Given the description of an element on the screen output the (x, y) to click on. 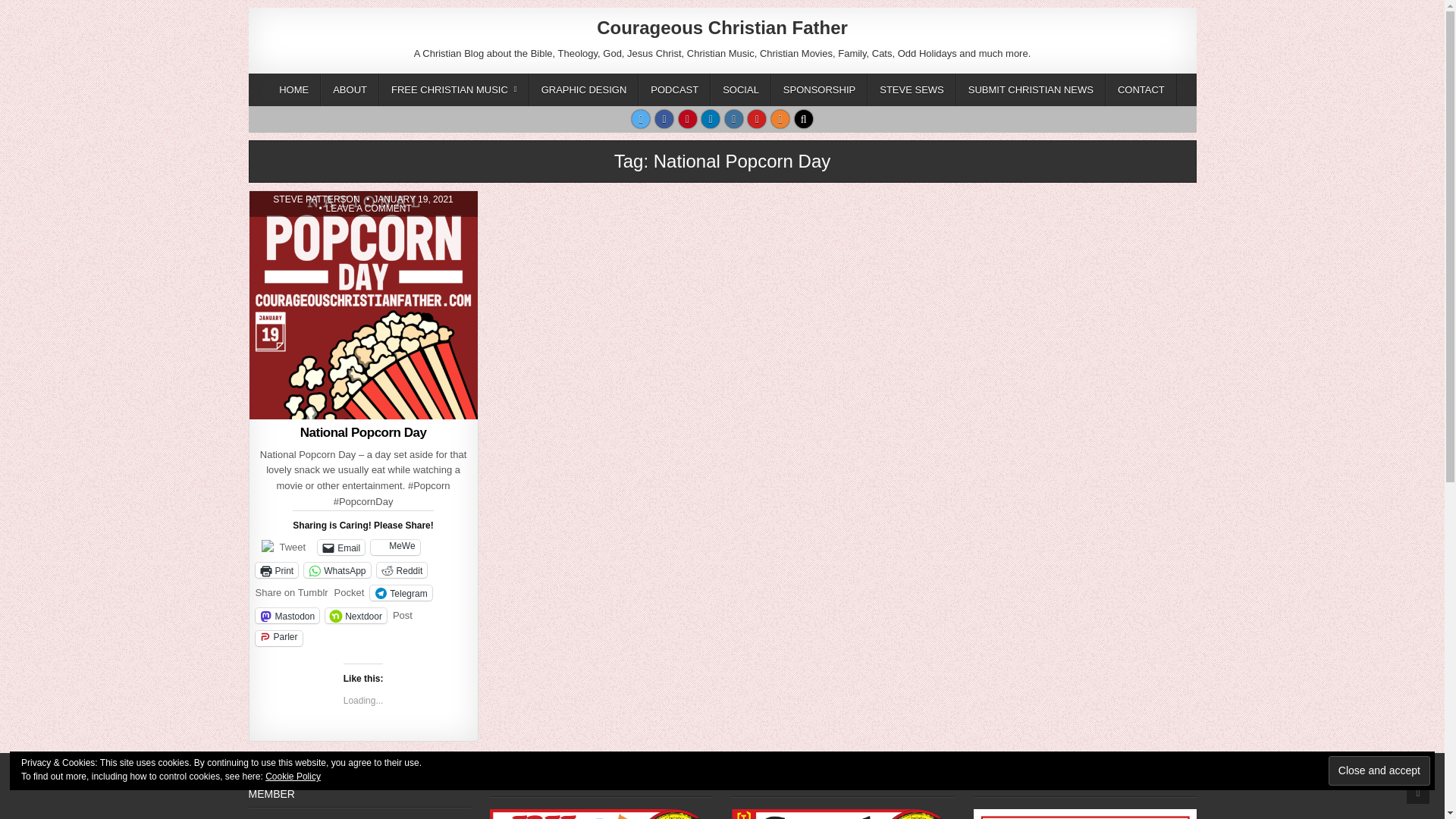
Instagram (733, 118)
Click to email a link to a friend (341, 547)
RSS (780, 118)
Facebook (663, 118)
Click to share on WhatsApp (336, 570)
Scroll to Top (316, 198)
Click to print (1417, 792)
Twitter (276, 570)
SPONSORSHIP (640, 118)
